Given the description of an element on the screen output the (x, y) to click on. 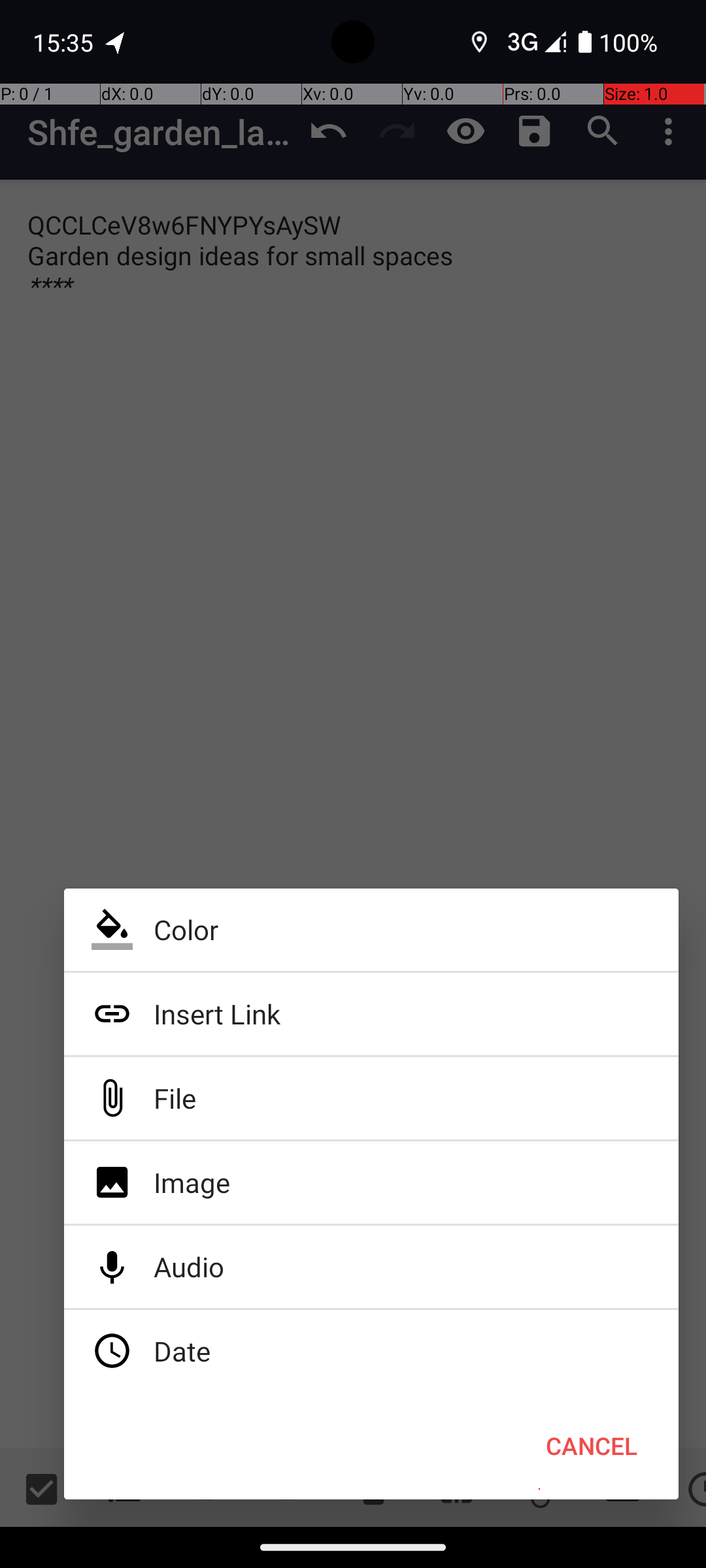
Color Element type: android.widget.TextView (371, 929)
Insert Link Element type: android.widget.TextView (371, 1013)
File Element type: android.widget.TextView (371, 1098)
Image Element type: android.widget.TextView (371, 1182)
